Given the description of an element on the screen output the (x, y) to click on. 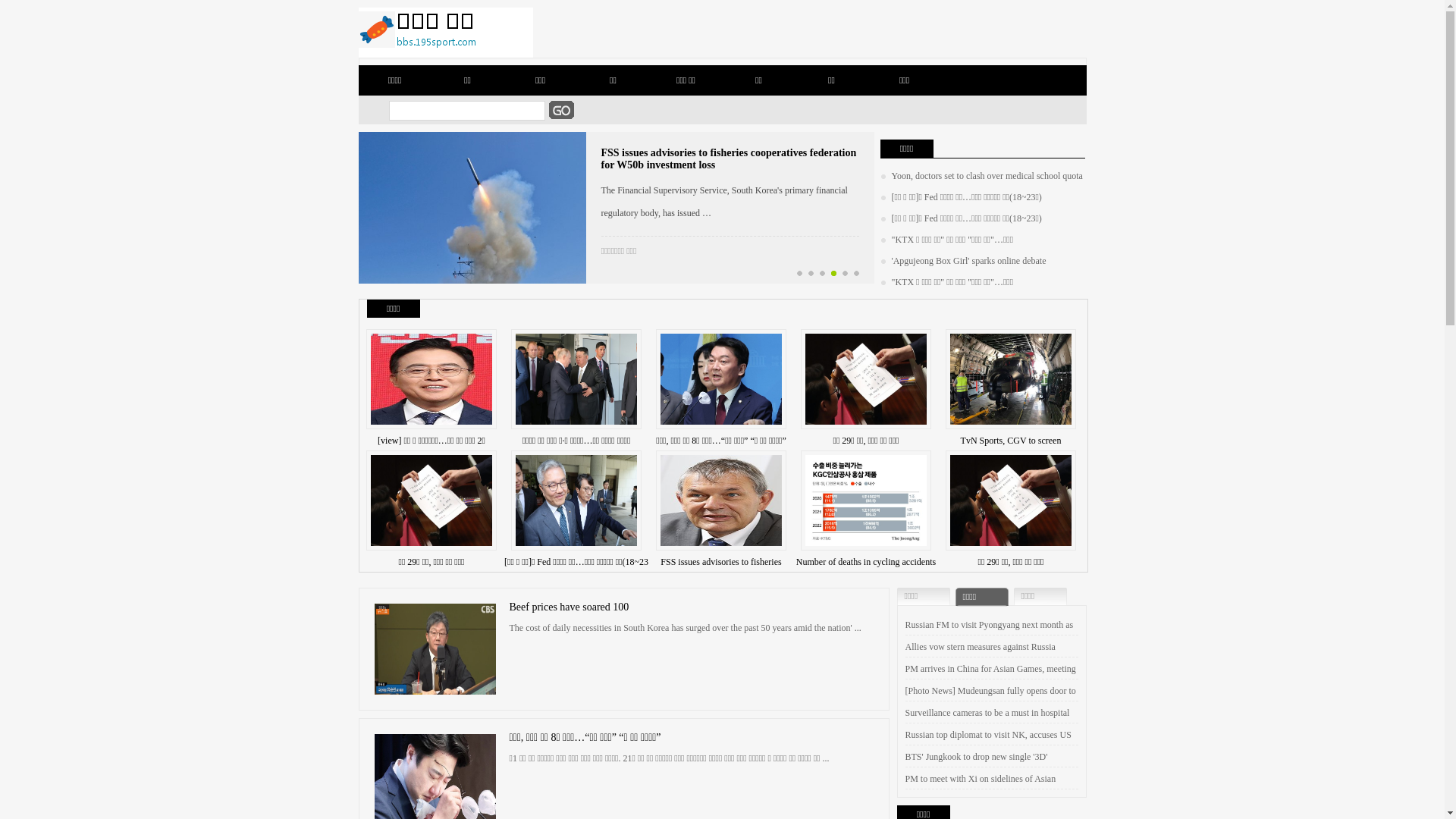
BTS' Jungkook to drop new single '3D' Element type: text (976, 756)
Yoon, doctors set to clash over medical school quota Element type: text (980, 175)
Allies vow stern measures against Russia Element type: text (980, 646)
Russian FM to visit Pyongyang next month as follow Element type: text (989, 635)
Number of deaths in cycling accidents soars Element type: text (865, 572)
PM to meet with Xi on sidelines of Asian Games in Hangzhou Element type: text (980, 789)
PM arrives in China for Asian Games, meeting with Xi Element type: text (990, 679)
Beef prices have soared 100 Element type: text (569, 606)
'Apgujeong Box Girl' sparks online debate Element type: text (962, 260)
